Given the description of an element on the screen output the (x, y) to click on. 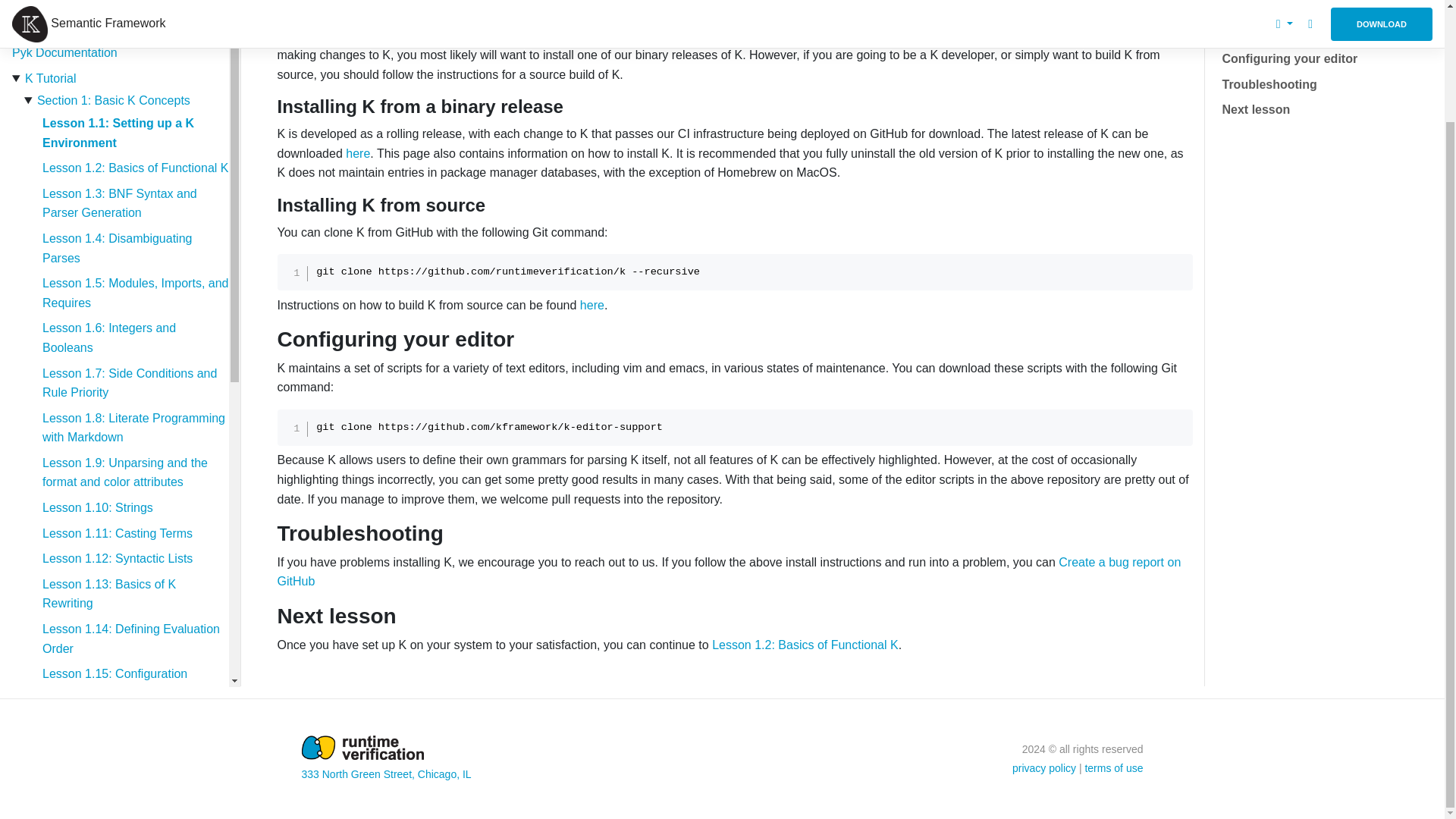
Lesson 1.14: Defining Evaluation Order (130, 638)
Lesson 1.8: Literate Programming with Markdown (133, 427)
Lesson 1.10: Strings (97, 507)
Lesson 1.5: Modules, Imports, and Requires (135, 292)
Lesson 1.1: Setting up a K Environment (117, 133)
Section 1: Basic K Concepts (113, 100)
Homepage (41, 4)
Lesson 1.17: Cell Multiplicity and Cell Collections (130, 773)
Lesson 1.9: Unparsing and the format and color attributes (125, 472)
Lesson 1.15: Configuration Declarations and Cell Nesting (122, 683)
